Given the description of an element on the screen output the (x, y) to click on. 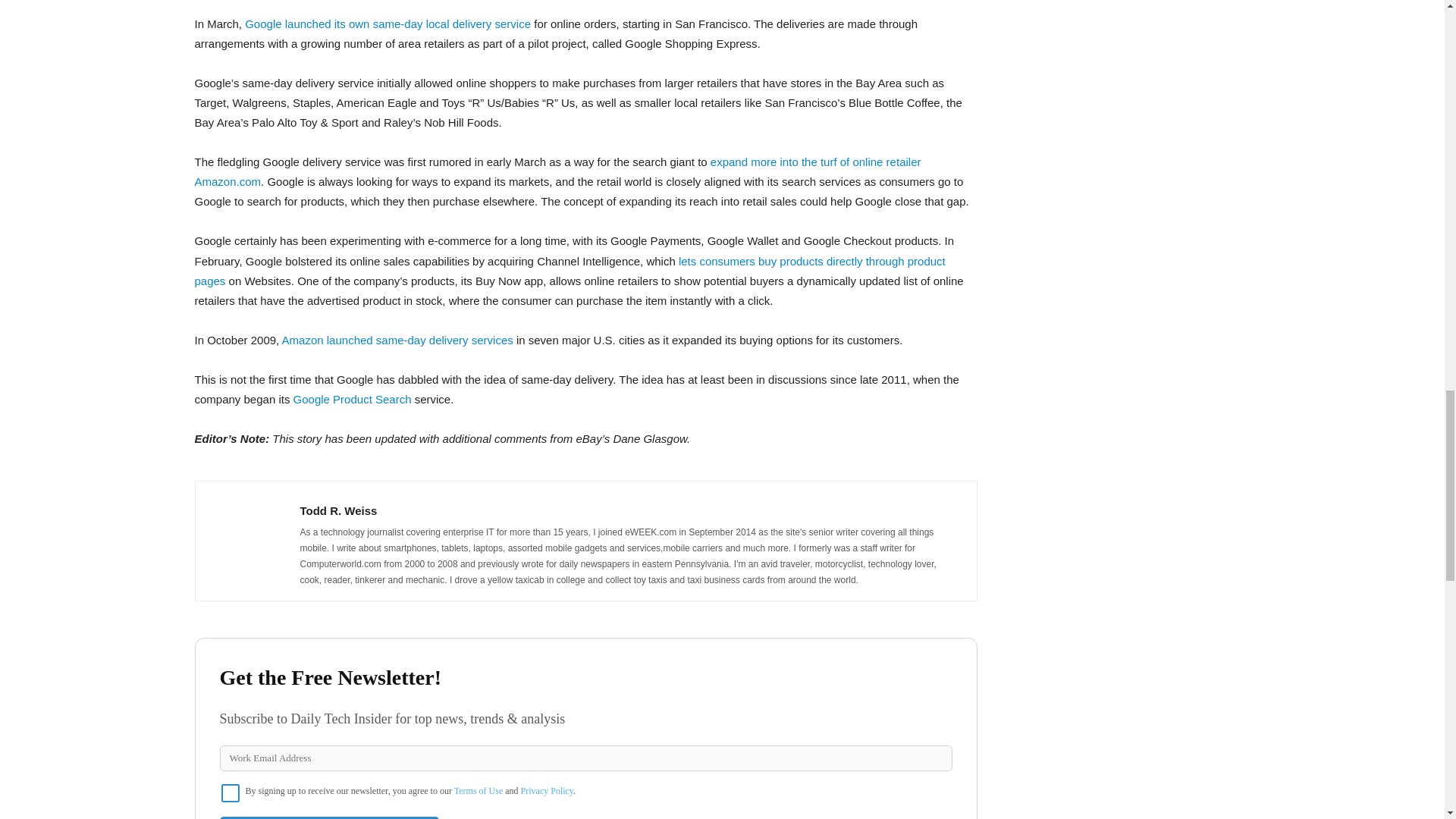
on (230, 792)
